Given the description of an element on the screen output the (x, y) to click on. 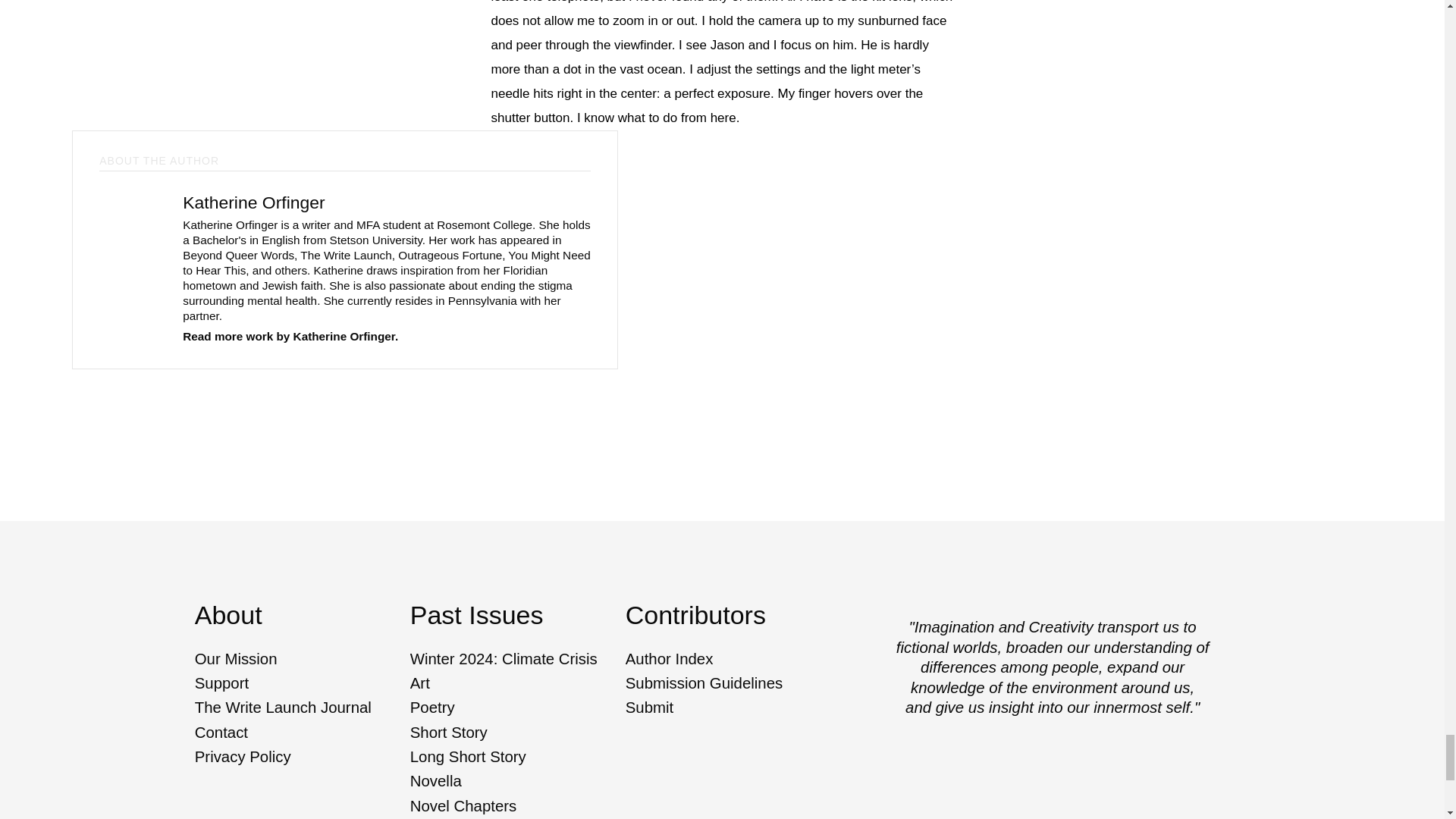
Support (299, 683)
Katherine Orfinger (253, 202)
Winter 2024: Climate Crisis (515, 658)
Privacy Policy (299, 756)
Our Mission (299, 658)
Contact (299, 732)
Read more work by Katherine Orfinger. (290, 336)
The Write Launch Journal (299, 708)
